Given the description of an element on the screen output the (x, y) to click on. 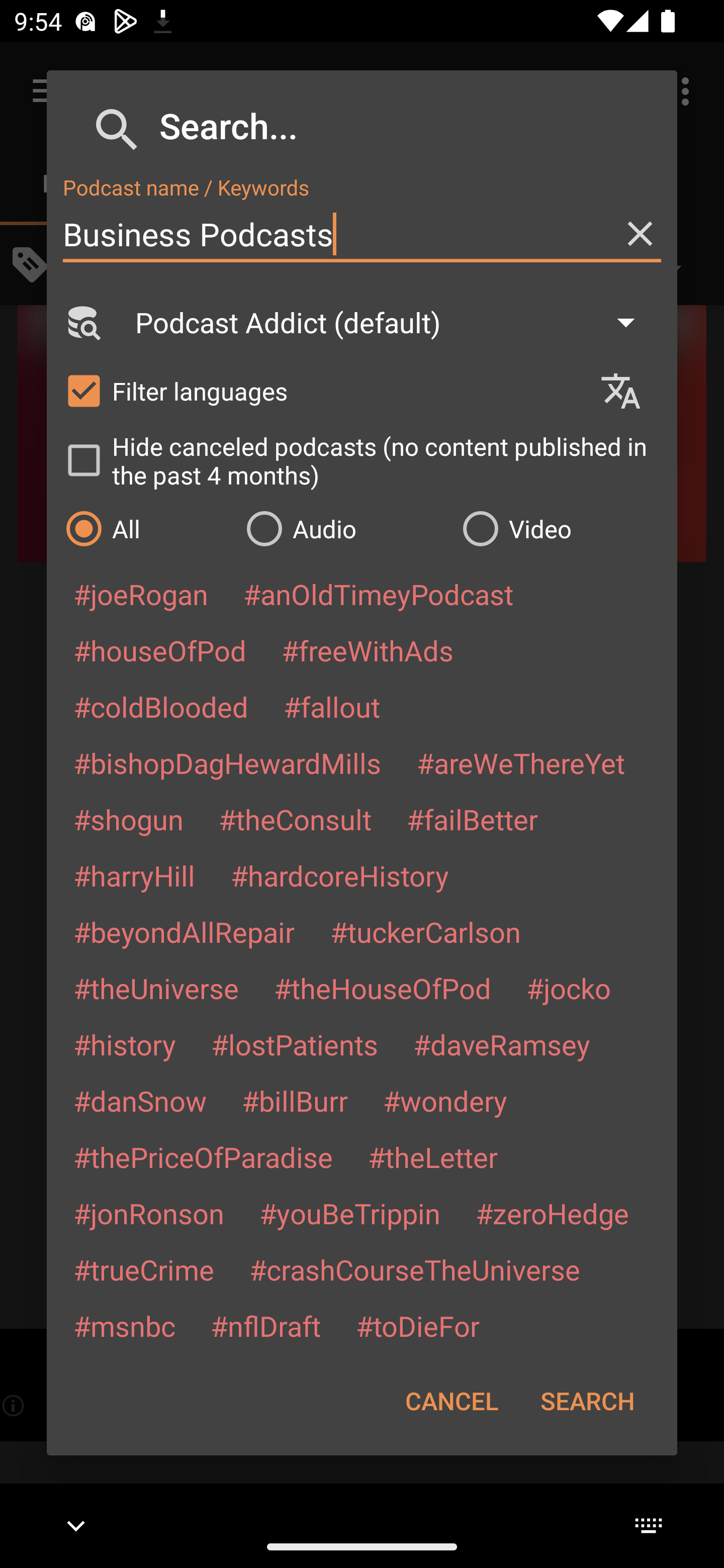
Business Podcasts (361, 234)
Search Engine (82, 322)
Podcast Addict (default) (394, 322)
Languages selection (629, 390)
Filter languages (322, 390)
All (145, 528)
Audio (344, 528)
Video (560, 528)
#joeRogan (140, 594)
#anOldTimeyPodcast (378, 594)
#houseOfPod (159, 650)
#freeWithAds (367, 650)
#coldBlooded (160, 705)
#fallout (331, 705)
#bishopDagHewardMills (227, 762)
#areWeThereYet (521, 762)
#shogun (128, 818)
#theConsult (294, 818)
#failBetter (471, 818)
#harryHill (134, 875)
#hardcoreHistory (339, 875)
#beyondAllRepair (184, 931)
#tuckerCarlson (425, 931)
#theUniverse (155, 987)
#theHouseOfPod (381, 987)
#jocko (568, 987)
#history (124, 1044)
#lostPatients (294, 1044)
#daveRamsey (501, 1044)
#danSnow (139, 1100)
#billBurr (294, 1100)
#wondery (444, 1100)
#thePriceOfParadise (203, 1157)
#theLetter (432, 1157)
#jonRonson (148, 1213)
#youBeTrippin (349, 1213)
#zeroHedge (552, 1213)
#trueCrime (143, 1268)
#crashCourseTheUniverse (414, 1268)
#msnbc (124, 1325)
#nflDraft (265, 1325)
#toDieFor (417, 1325)
CANCEL (451, 1400)
SEARCH (587, 1400)
